Given the description of an element on the screen output the (x, y) to click on. 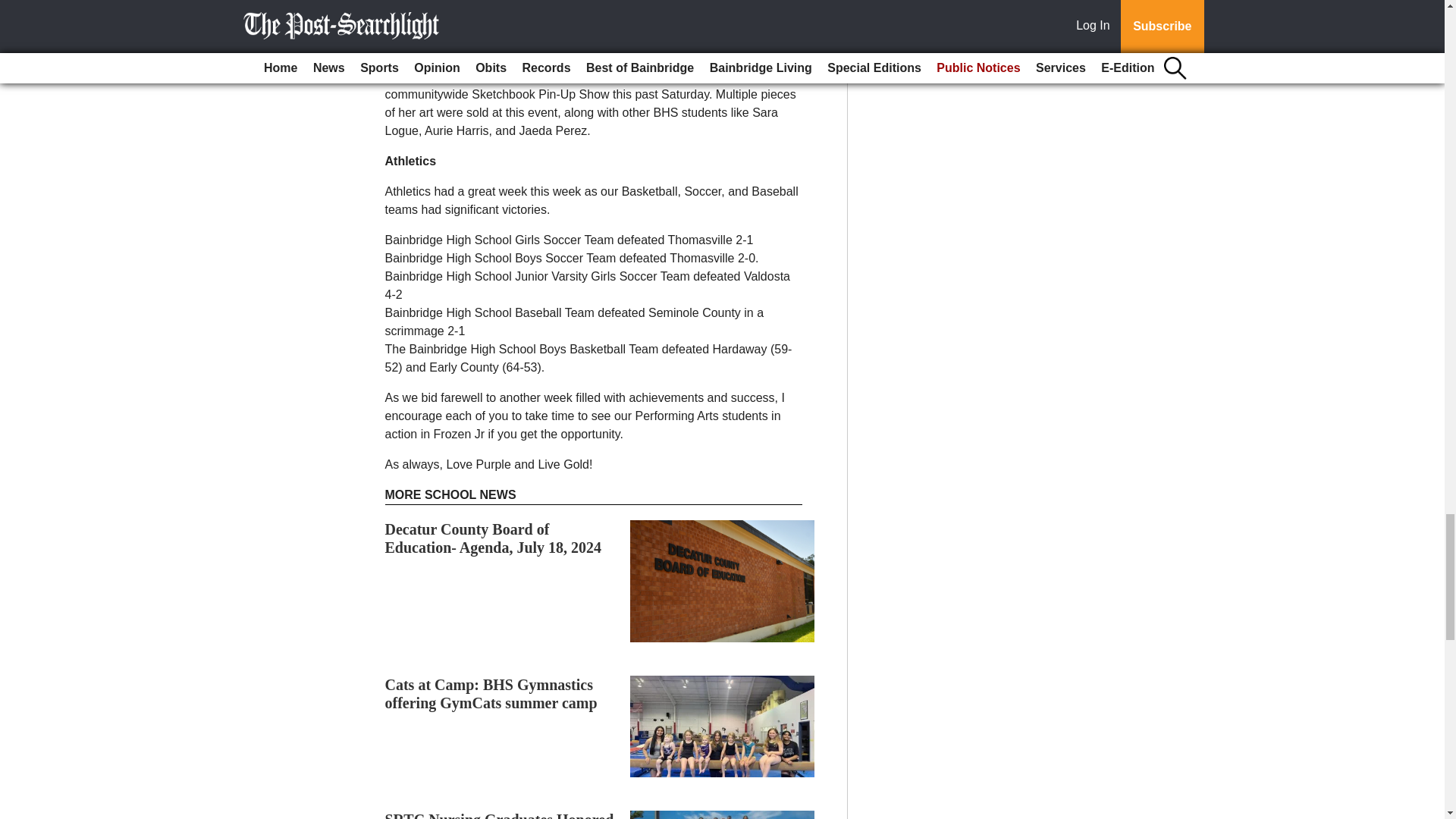
Decatur County Board of Education- Agenda, July 18, 2024 (493, 538)
Decatur County Board of Education- Agenda, July 18, 2024 (493, 538)
